Given the description of an element on the screen output the (x, y) to click on. 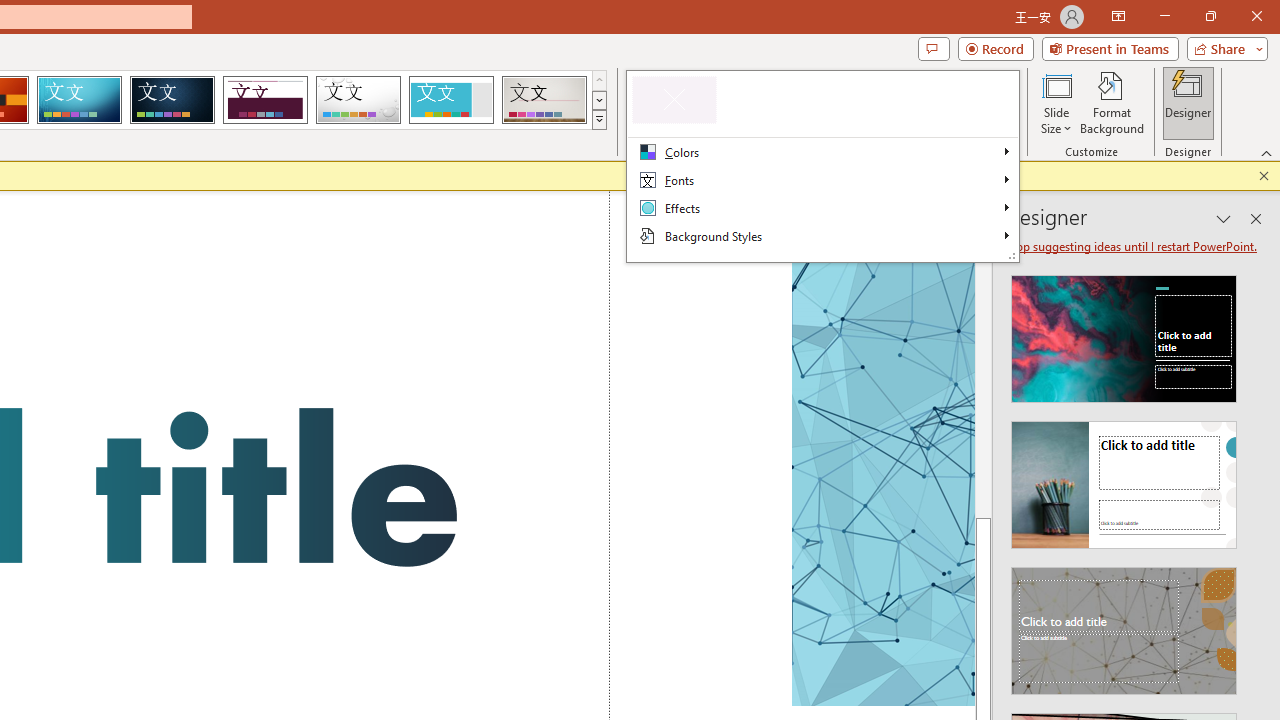
Damask (171, 100)
Dividend (265, 100)
Frame (450, 100)
Close this message (1263, 176)
